Given the description of an element on the screen output the (x, y) to click on. 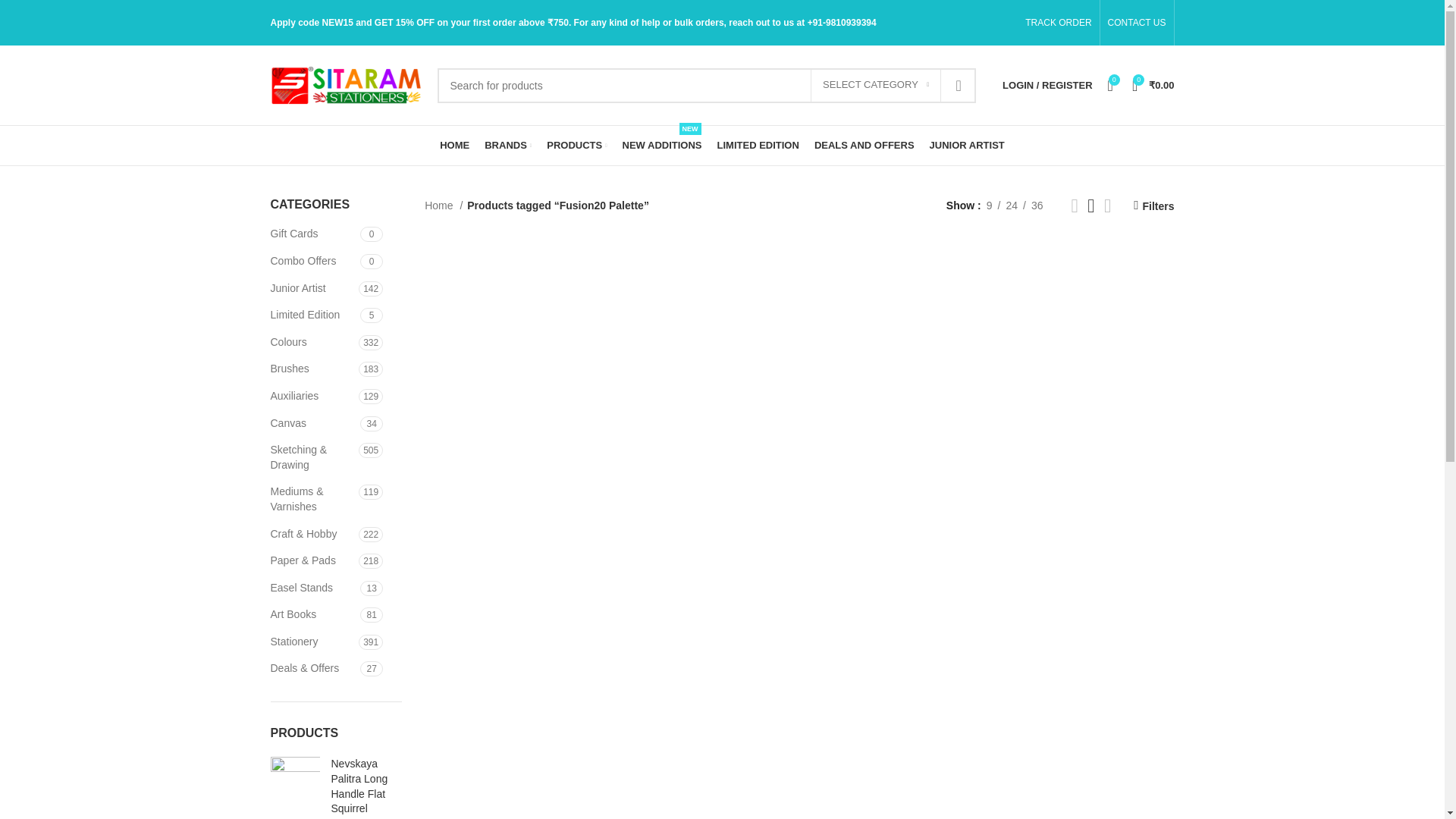
Search for products (705, 85)
SELECT CATEGORY (875, 85)
My account (1046, 84)
CONTACT US (1137, 22)
SELECT CATEGORY (875, 85)
TRACK ORDER (1055, 22)
Shopping cart (1153, 84)
